Given the description of an element on the screen output the (x, y) to click on. 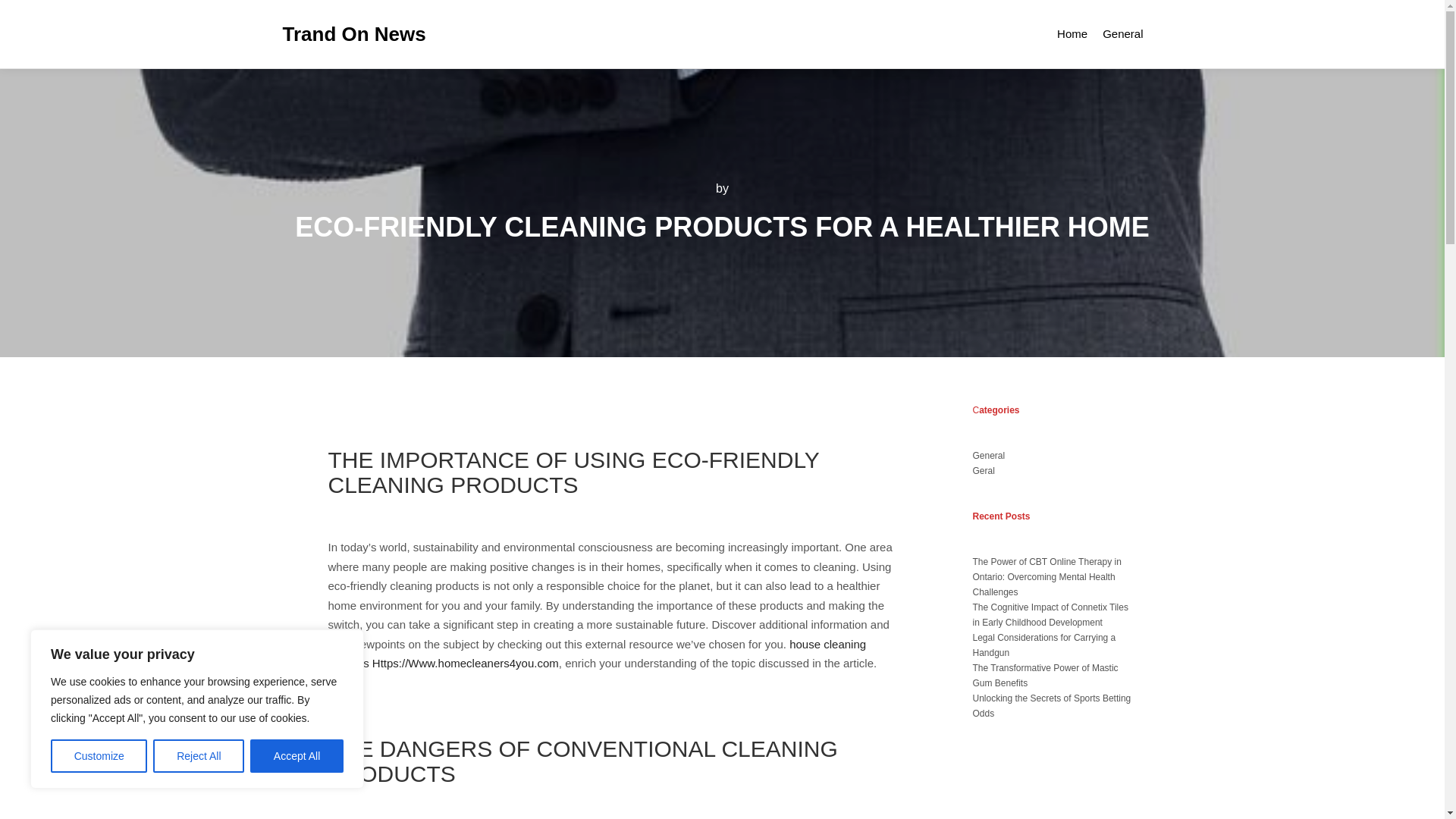
The Transformative Power of Mastic Gum Benefits (1045, 675)
Accept All (296, 756)
Trand On News (353, 33)
Legal Considerations for Carrying a Handgun (1043, 645)
Unlocking the Secrets of Sports Betting Odds (1051, 705)
Reject All (198, 756)
Home (1071, 33)
Trand On News (353, 33)
Customize (98, 756)
Geral (983, 470)
General (988, 455)
General (1122, 33)
